Given the description of an element on the screen output the (x, y) to click on. 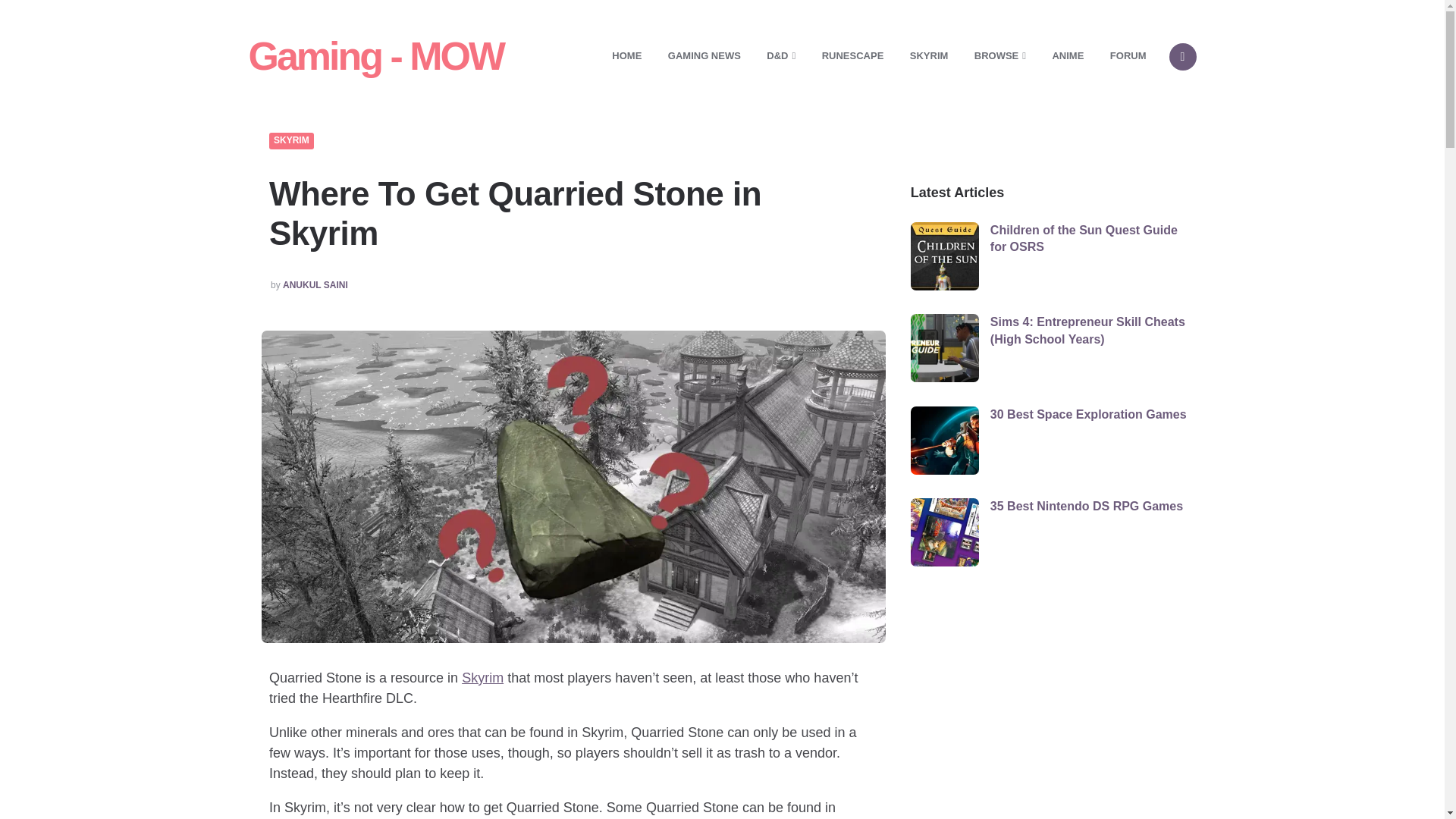
HOME (625, 56)
ANIME (1067, 56)
FORUM (1128, 56)
SKYRIM (928, 56)
BROWSE (999, 56)
Gaming - MOW (375, 56)
GAMING NEWS (704, 56)
RUNESCAPE (852, 56)
